Given the description of an element on the screen output the (x, y) to click on. 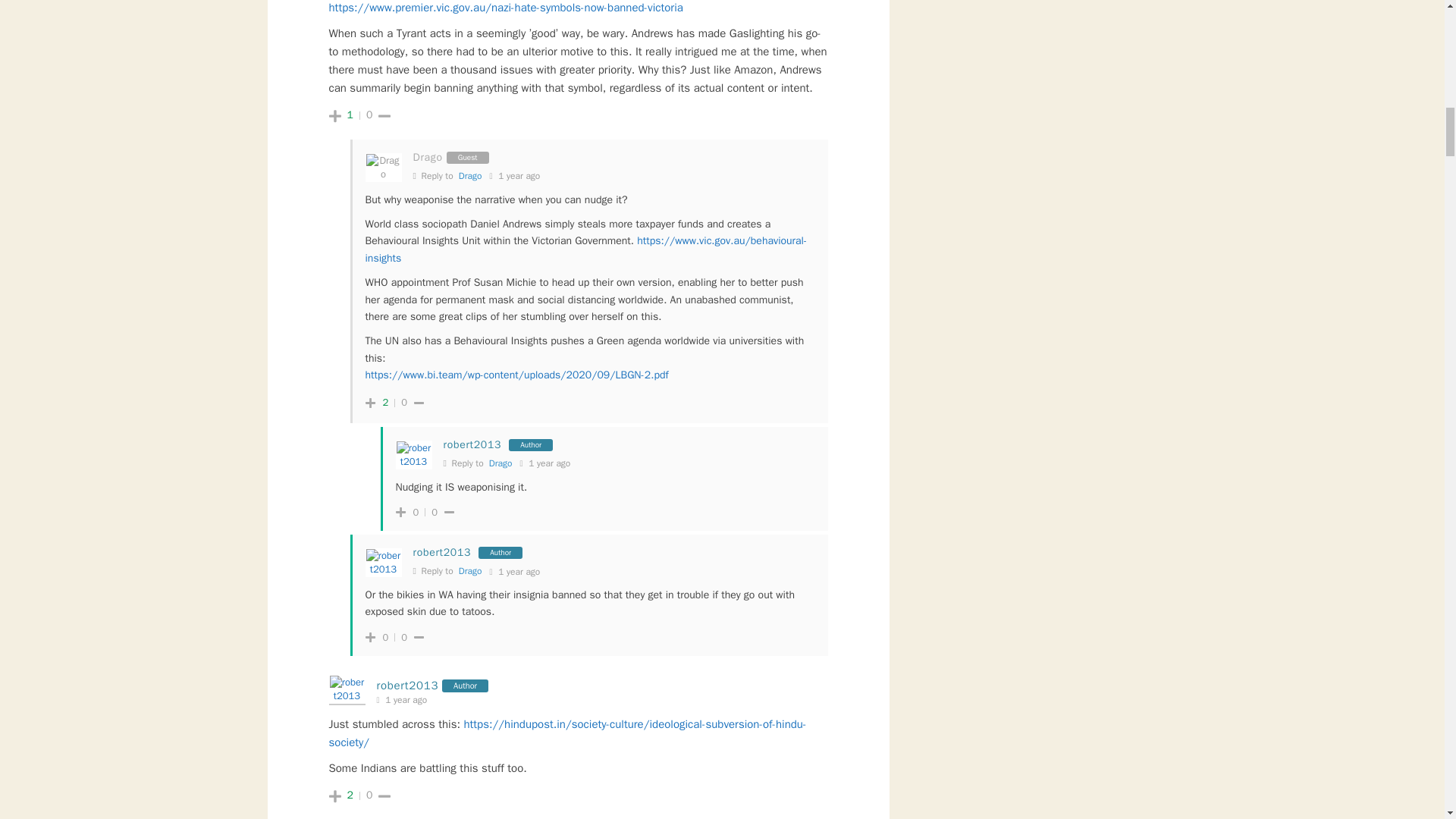
robert2013 (441, 552)
2 (384, 402)
September 3, 2022 2:24 pm (545, 463)
1 (349, 115)
robert2013 (406, 685)
September 3, 2022 1:29 pm (514, 175)
Drago (469, 571)
Drago (500, 463)
0 (368, 115)
0 (434, 512)
